Given the description of an element on the screen output the (x, y) to click on. 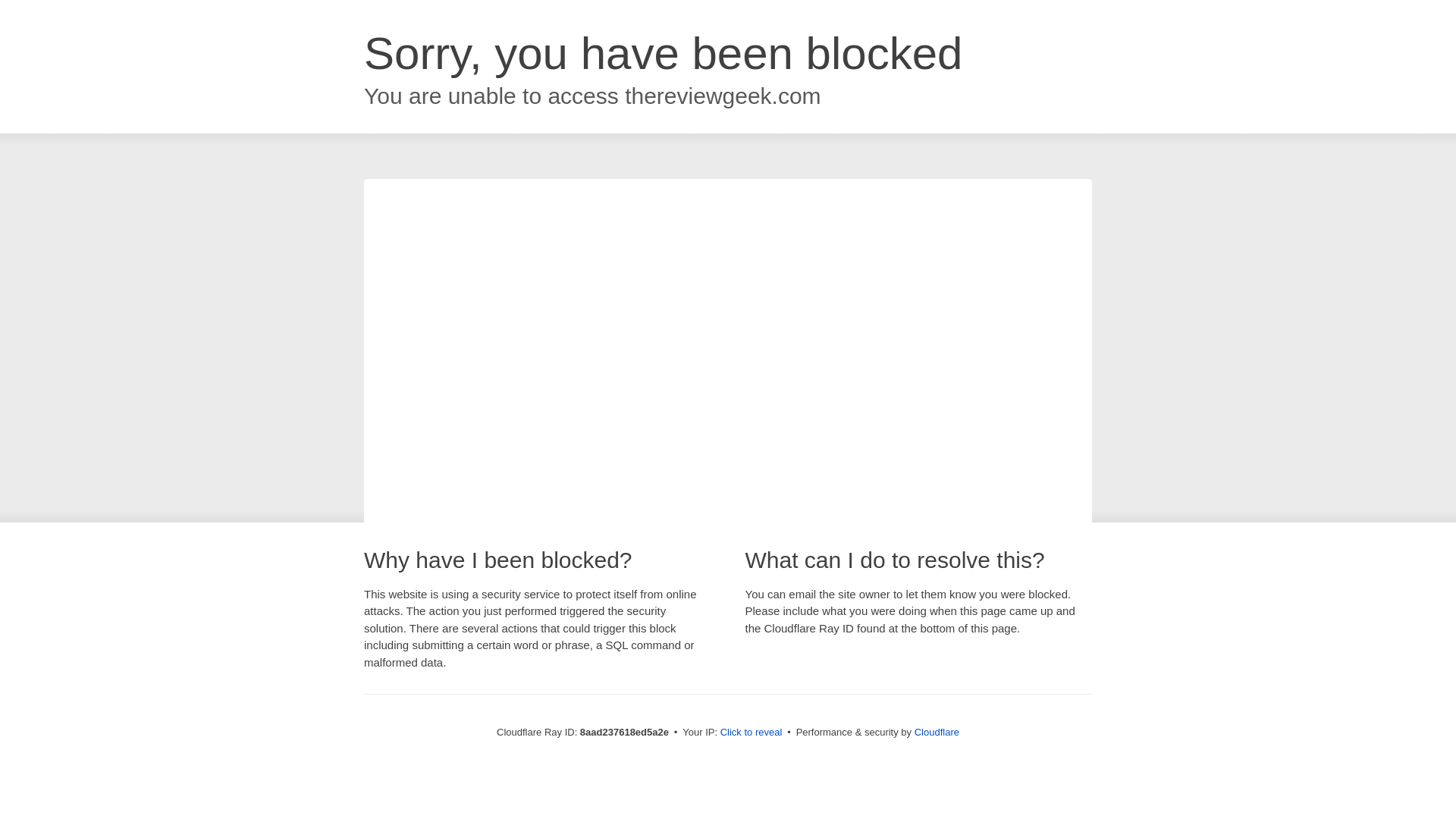
Cloudflare (936, 731)
Click to reveal (751, 732)
